Given the description of an element on the screen output the (x, y) to click on. 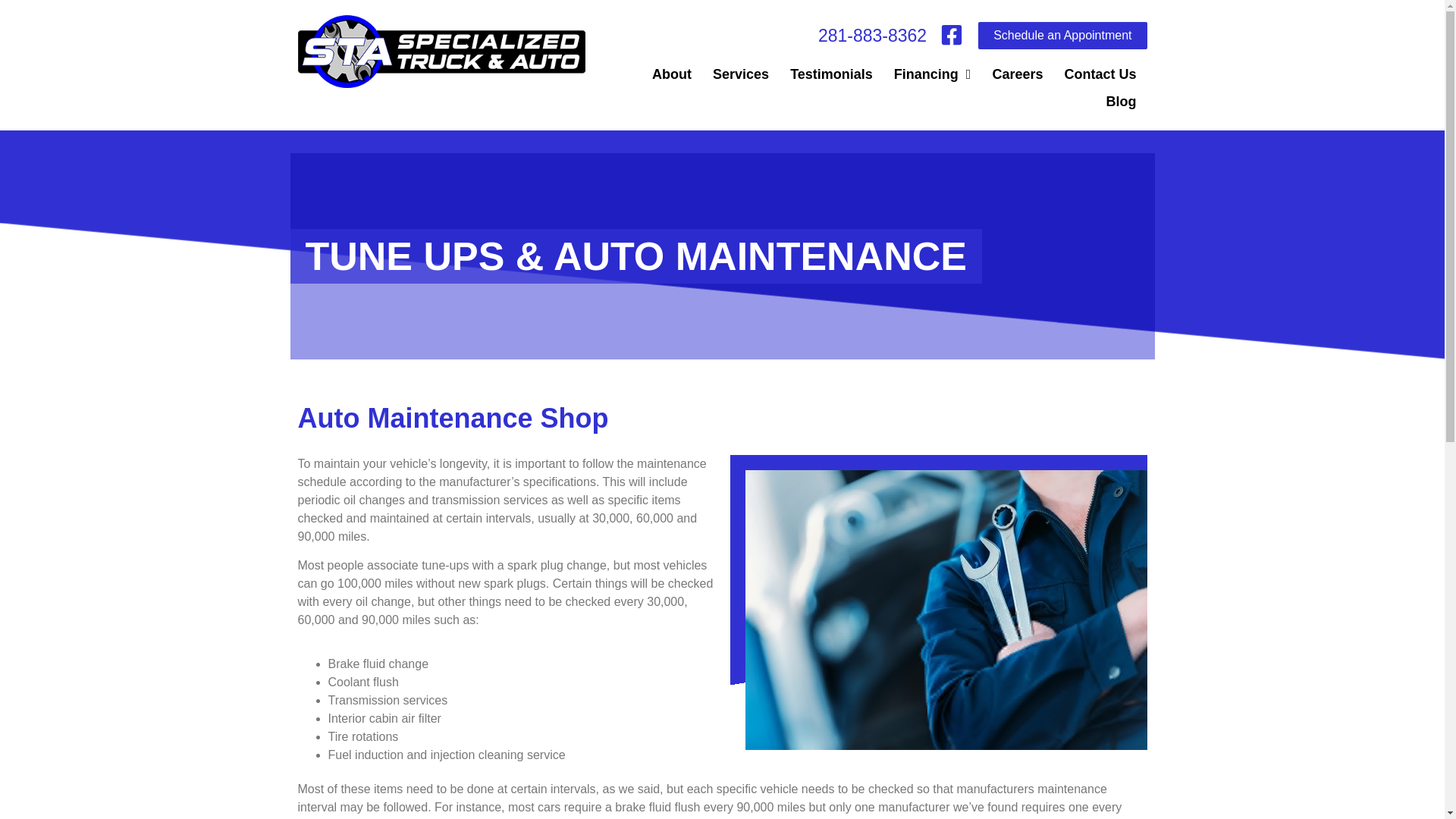
Financing   (932, 73)
281-883-8362 (872, 35)
Blog (1120, 101)
About (671, 73)
Schedule an Appointment (1062, 35)
Services (739, 73)
Careers (1016, 73)
Contact Us (1099, 73)
Testimonials (830, 73)
